Given the description of an element on the screen output the (x, y) to click on. 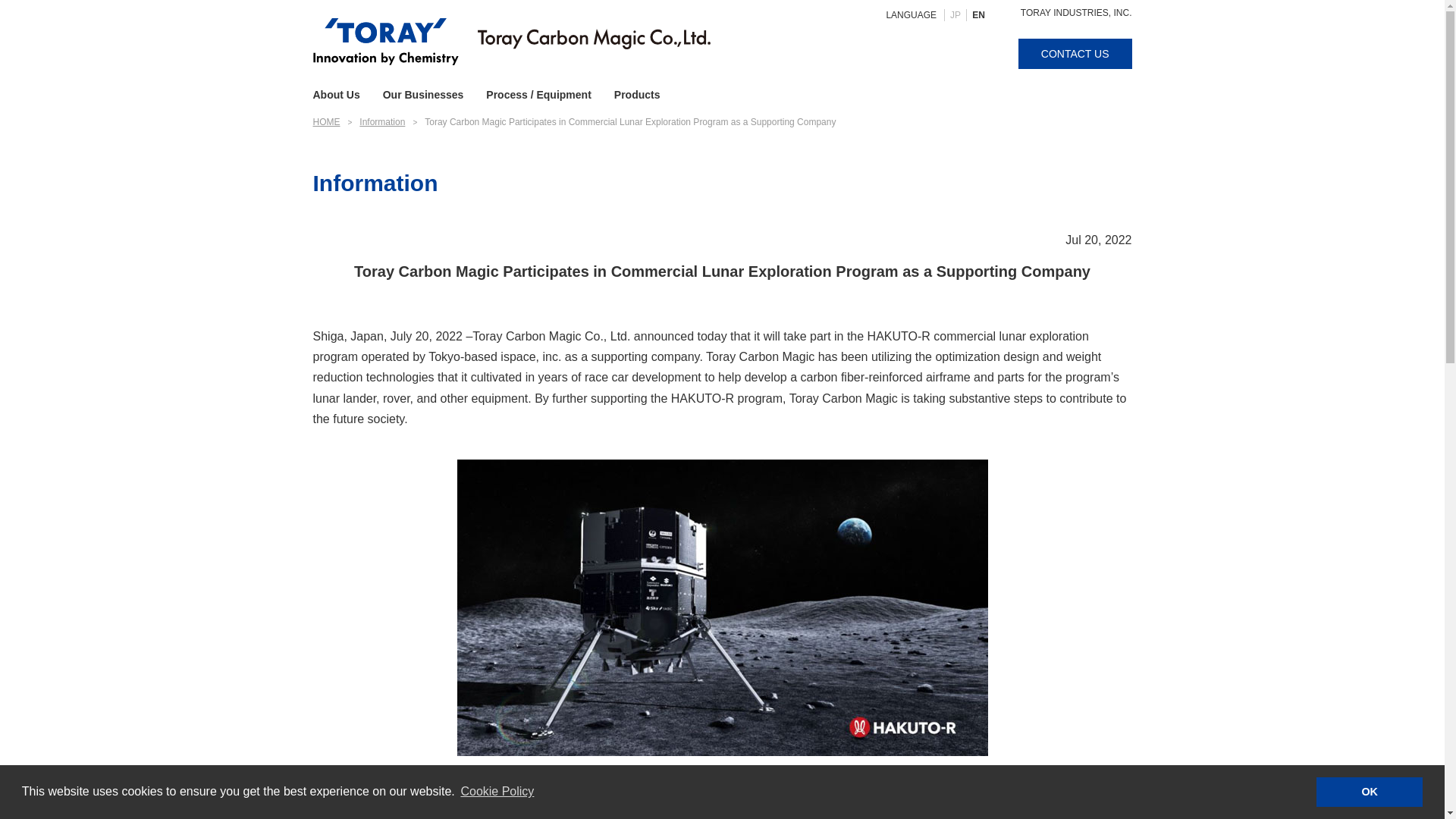
TORAY INDUSTRIES, INC. (1076, 12)
OK (1369, 791)
EN (978, 15)
HOME (326, 122)
CONTACT US (1074, 53)
Information (381, 122)
Products (636, 95)
Our Businesses (423, 95)
Cookie Policy (496, 791)
JP (954, 15)
